Given the description of an element on the screen output the (x, y) to click on. 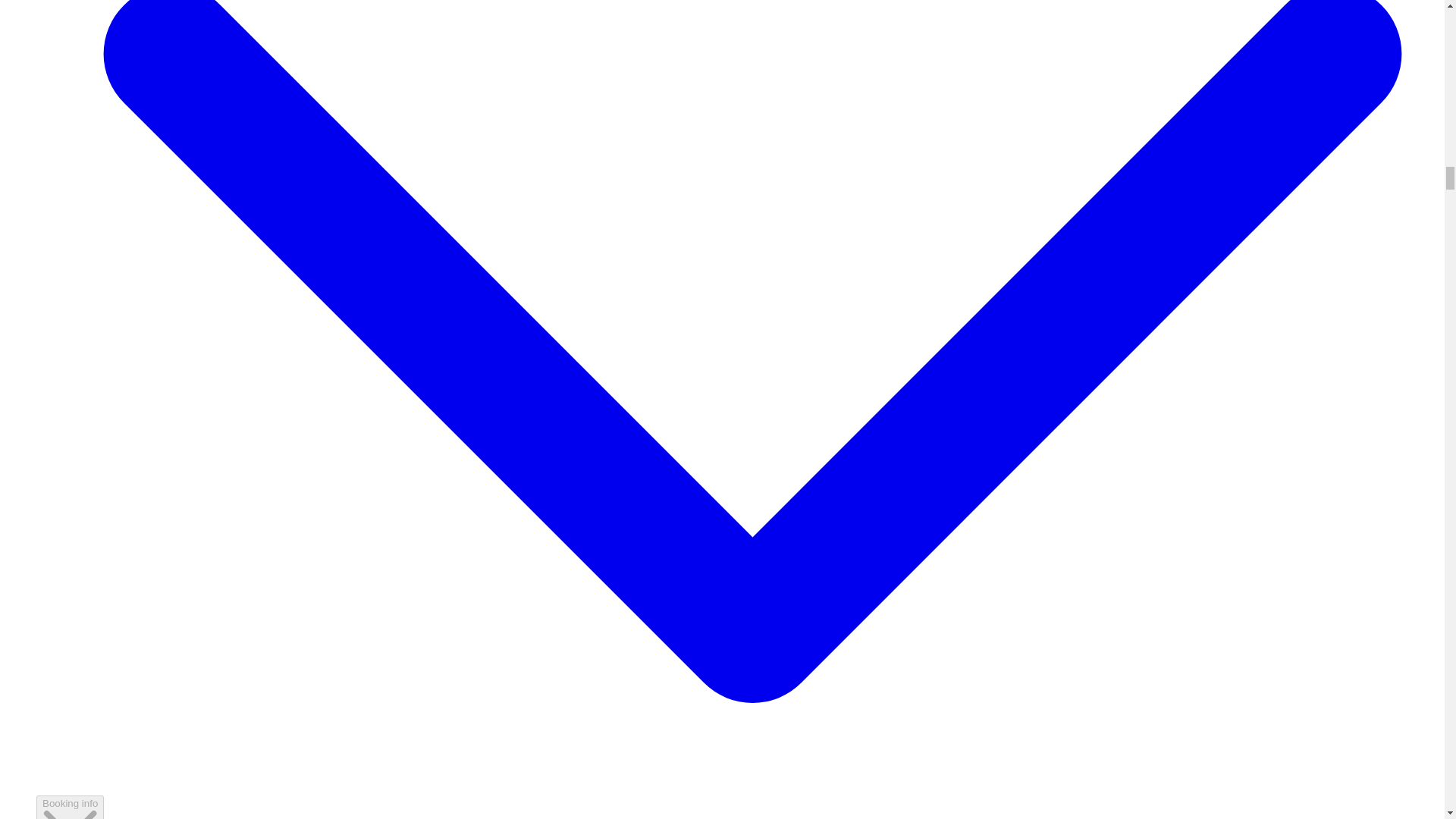
Booking info (69, 807)
